Given the description of an element on the screen output the (x, y) to click on. 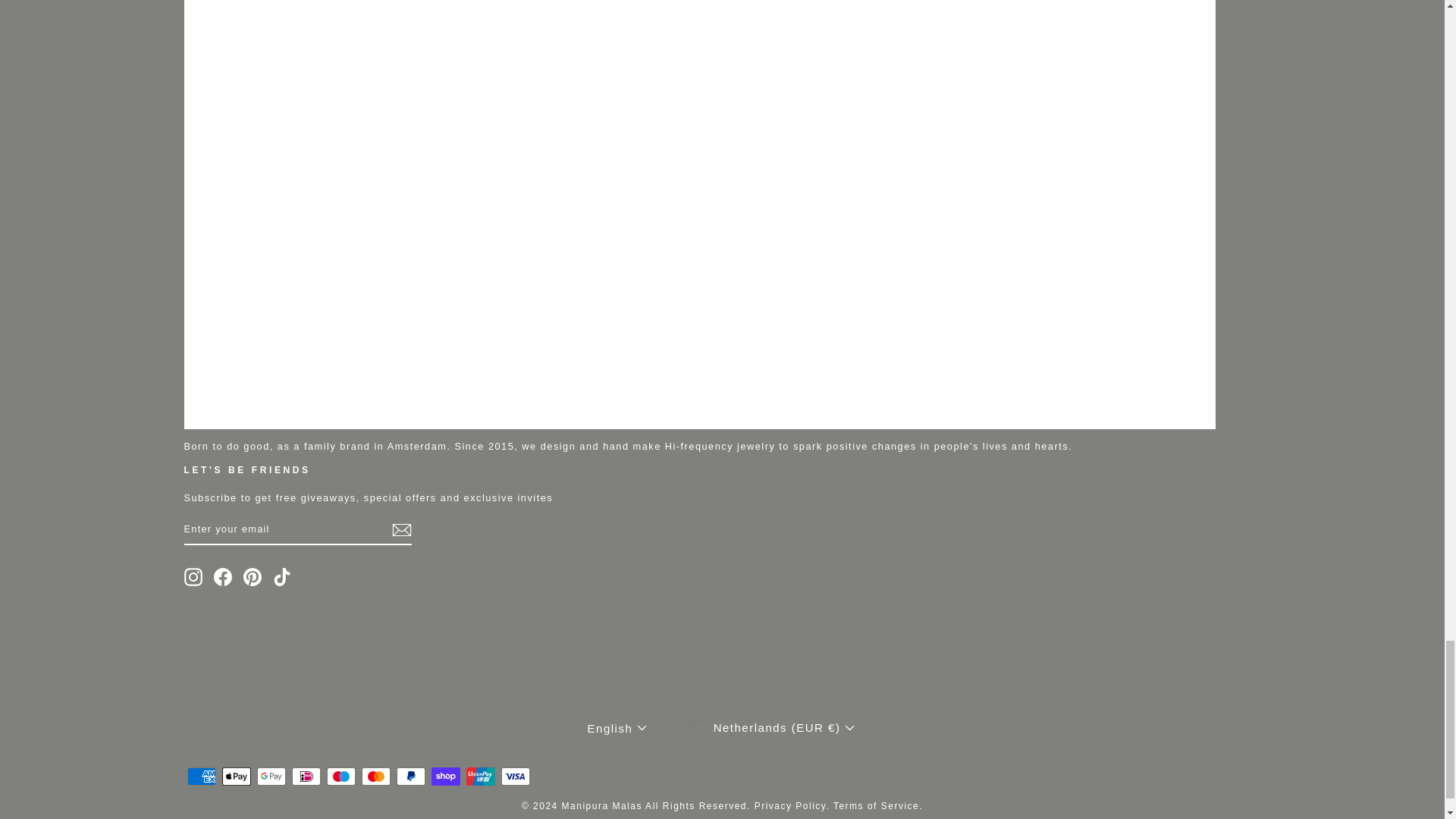
Manipura Malas on TikTok (282, 577)
Manipura Malas on Pinterest (251, 577)
Manipura Malas on Instagram (192, 577)
Manipura Malas on Facebook (222, 577)
